Given the description of an element on the screen output the (x, y) to click on. 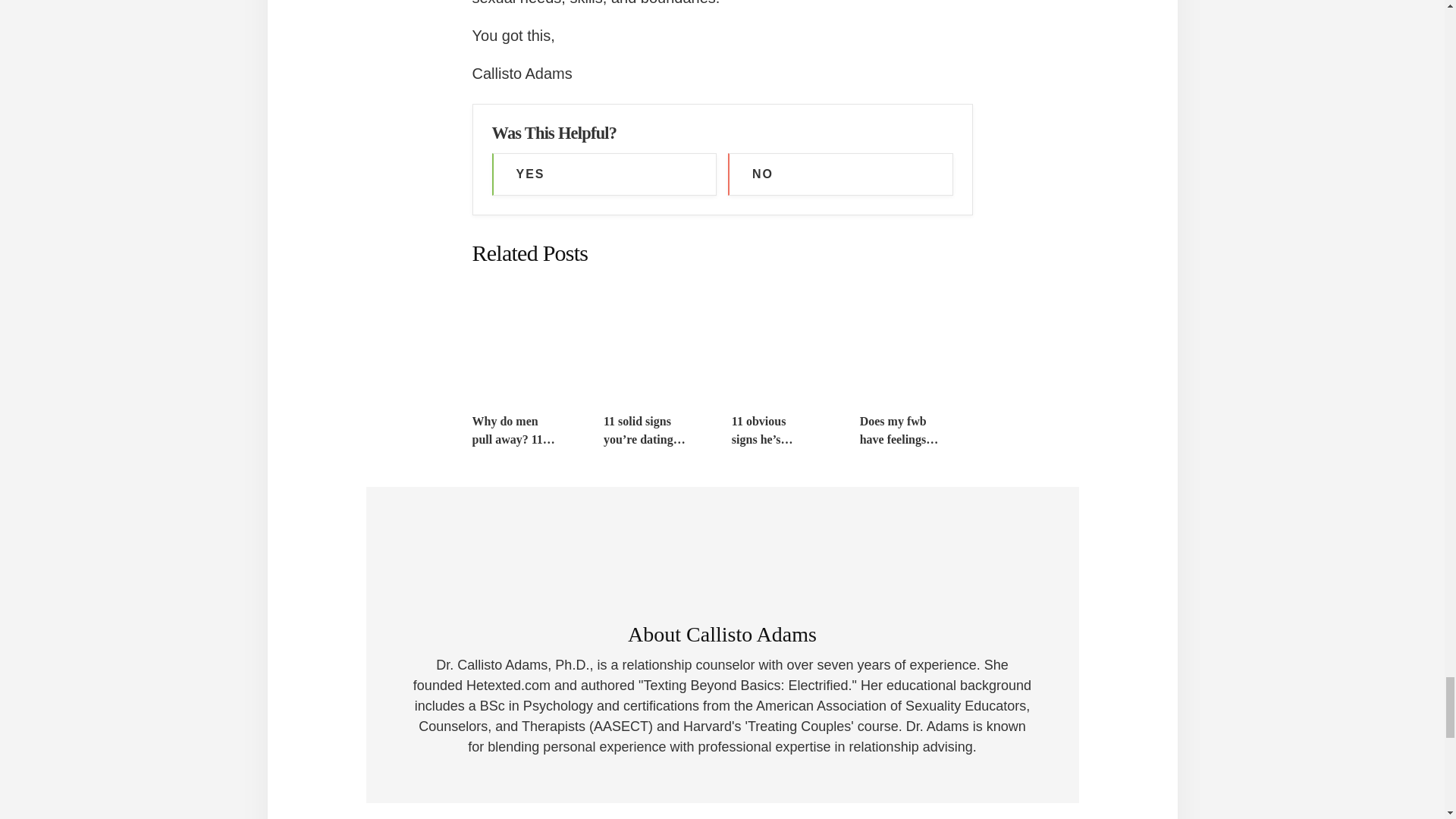
YES (604, 174)
NO (840, 174)
Why do men pull away? 11 exact reasons why men pull away (513, 430)
